Given the description of an element on the screen output the (x, y) to click on. 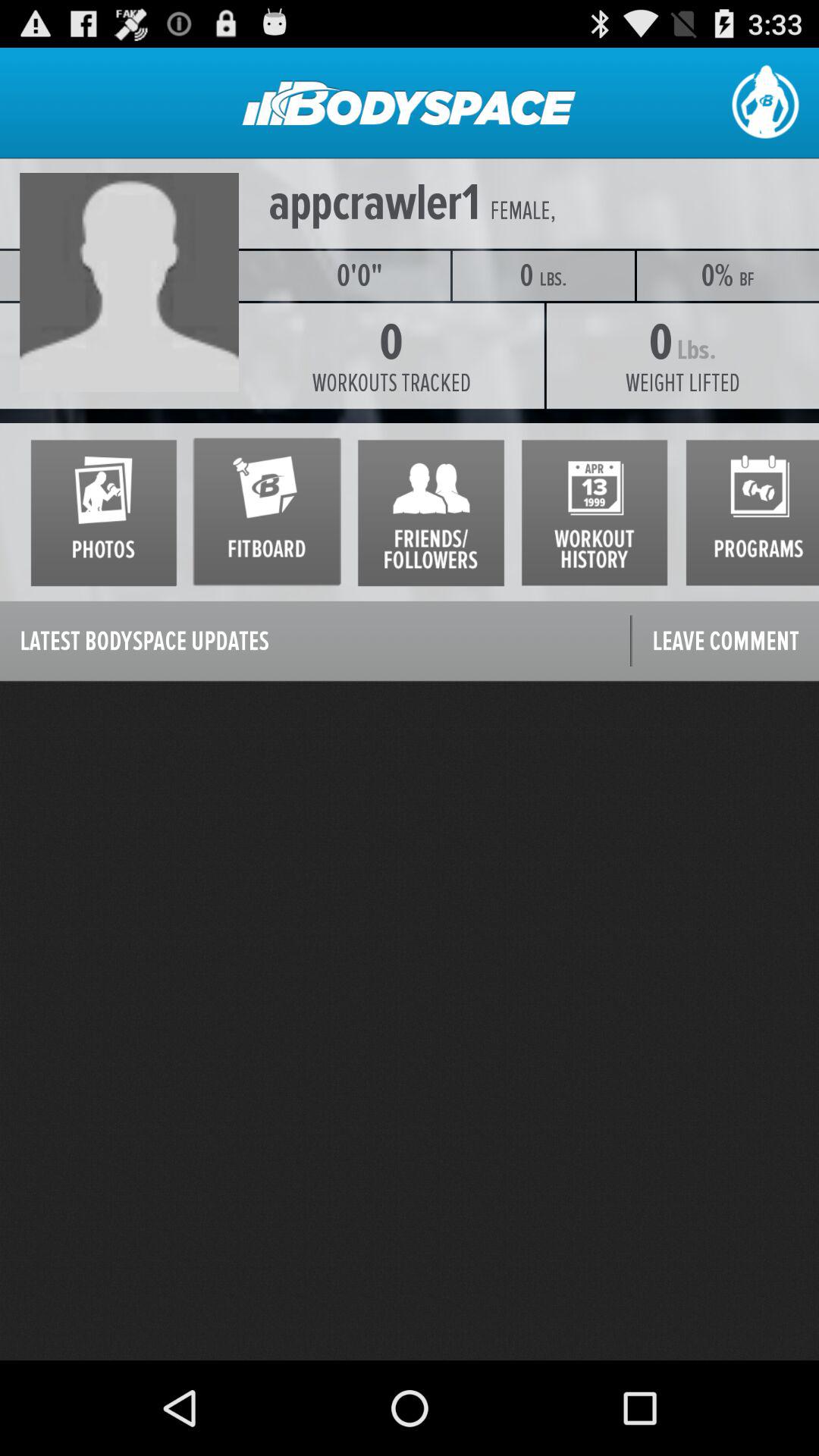
flip until latest bodyspace updates icon (316, 641)
